Given the description of an element on the screen output the (x, y) to click on. 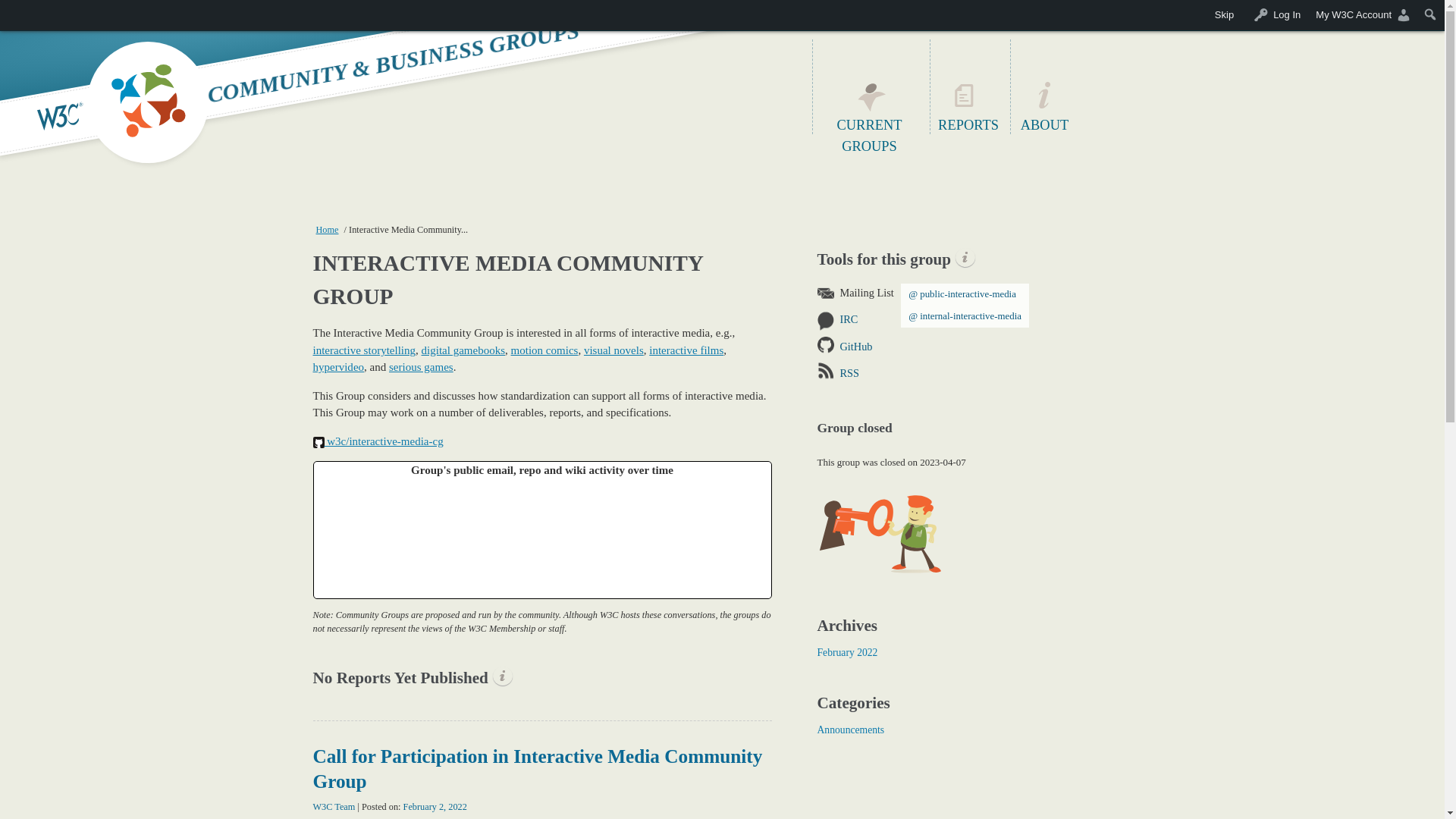
Skip (1224, 15)
IRC (996, 319)
February 2, 2022 (435, 806)
motion comics (544, 349)
hypervideo (338, 367)
Log In (1274, 15)
RSS (996, 373)
Search (16, 13)
public-interactive-media mailing list archive (968, 294)
interactive storytelling (363, 349)
GitHub (996, 347)
Search (1431, 13)
Call for Participation in Interactive Media Community Group (537, 768)
internal-interactive-media mailing list archive (968, 316)
